Given the description of an element on the screen output the (x, y) to click on. 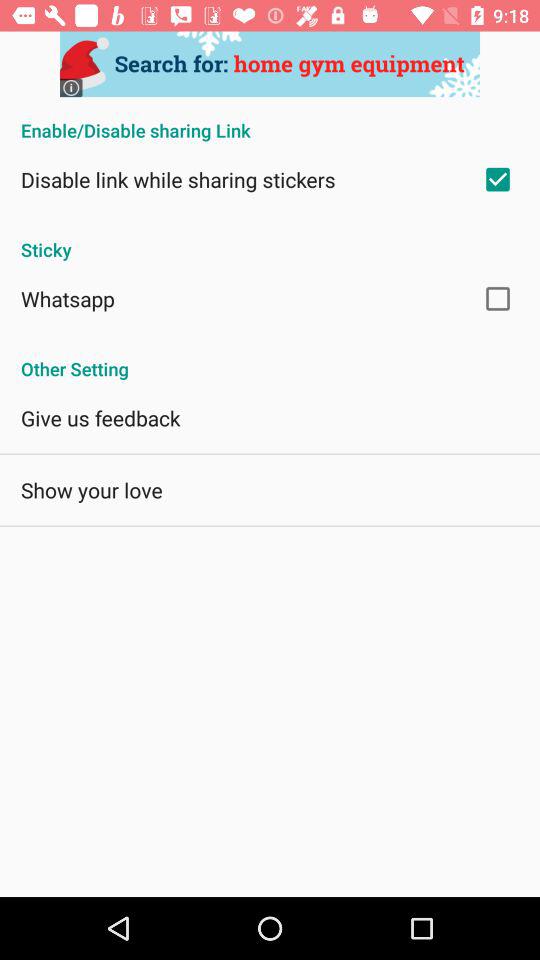
scroll to give us feedback item (100, 417)
